Given the description of an element on the screen output the (x, y) to click on. 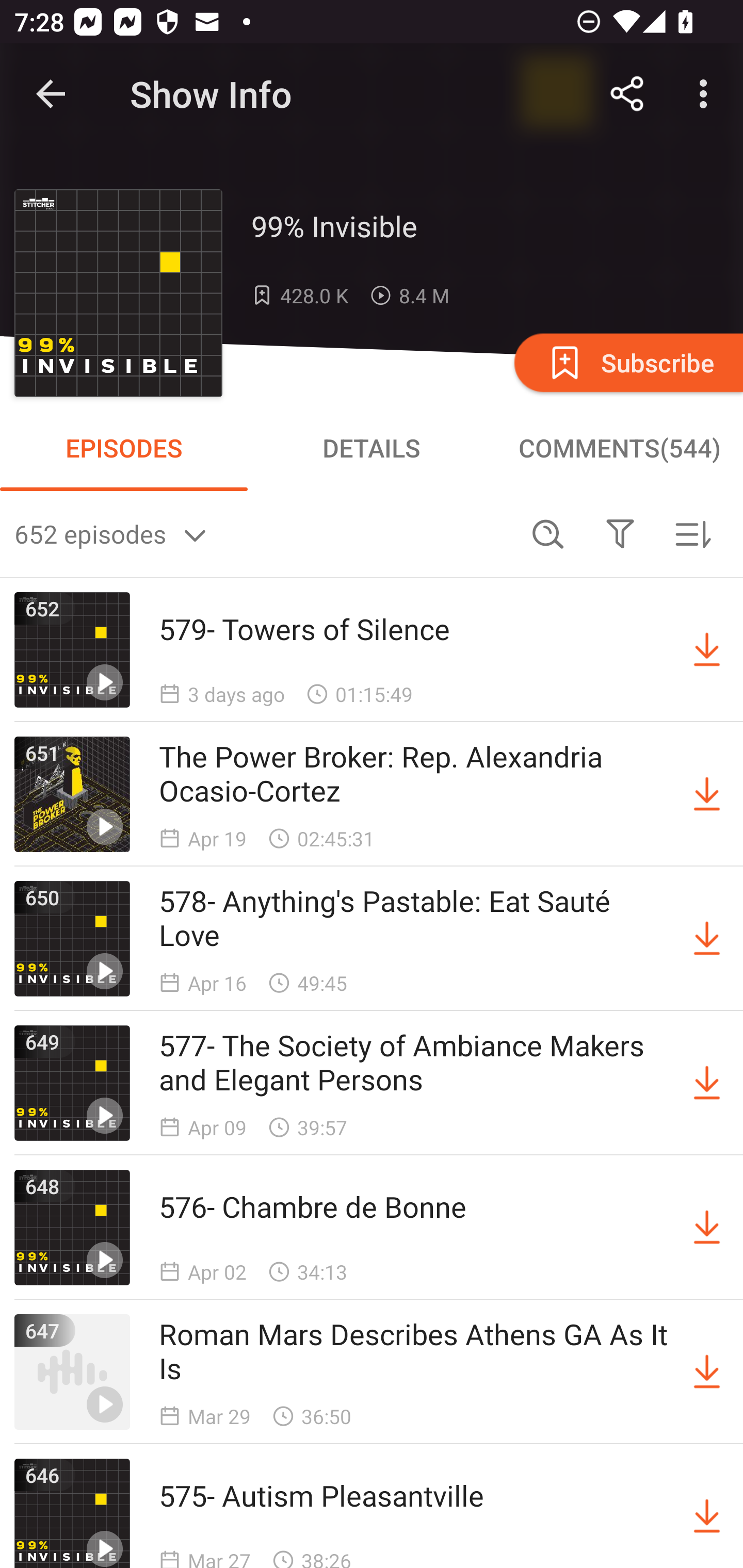
Navigate up (50, 93)
Share (626, 93)
More options (706, 93)
Subscribe (627, 361)
EPISODES (123, 447)
DETAILS (371, 447)
COMMENTS(544) (619, 447)
652 episodes  (262, 533)
 Search (547, 533)
 (619, 533)
 Sorted by newest first (692, 533)
Download (706, 649)
Download (706, 793)
Download (706, 939)
Download (706, 1083)
Download (706, 1227)
Download (706, 1371)
Download (706, 1513)
